Given the description of an element on the screen output the (x, y) to click on. 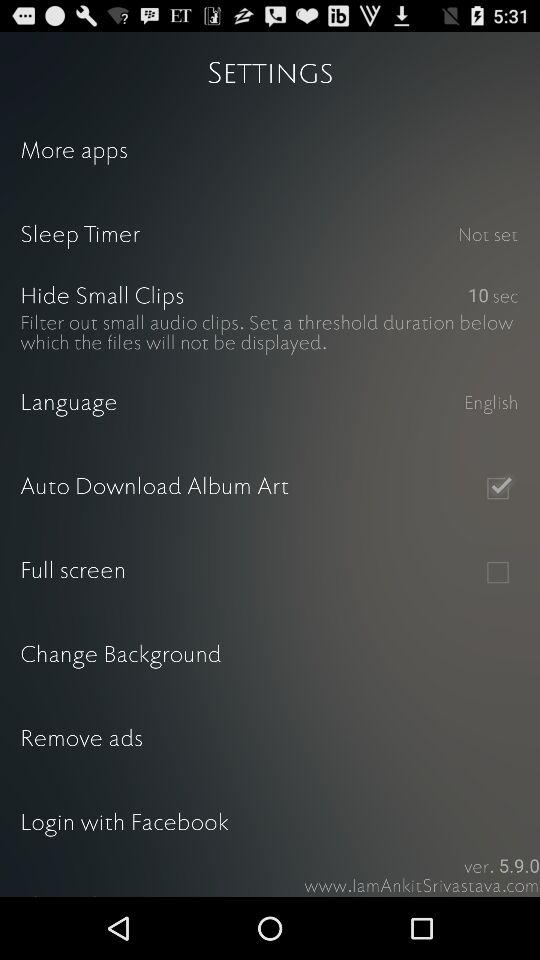
toggle full screen option (498, 572)
